Given the description of an element on the screen output the (x, y) to click on. 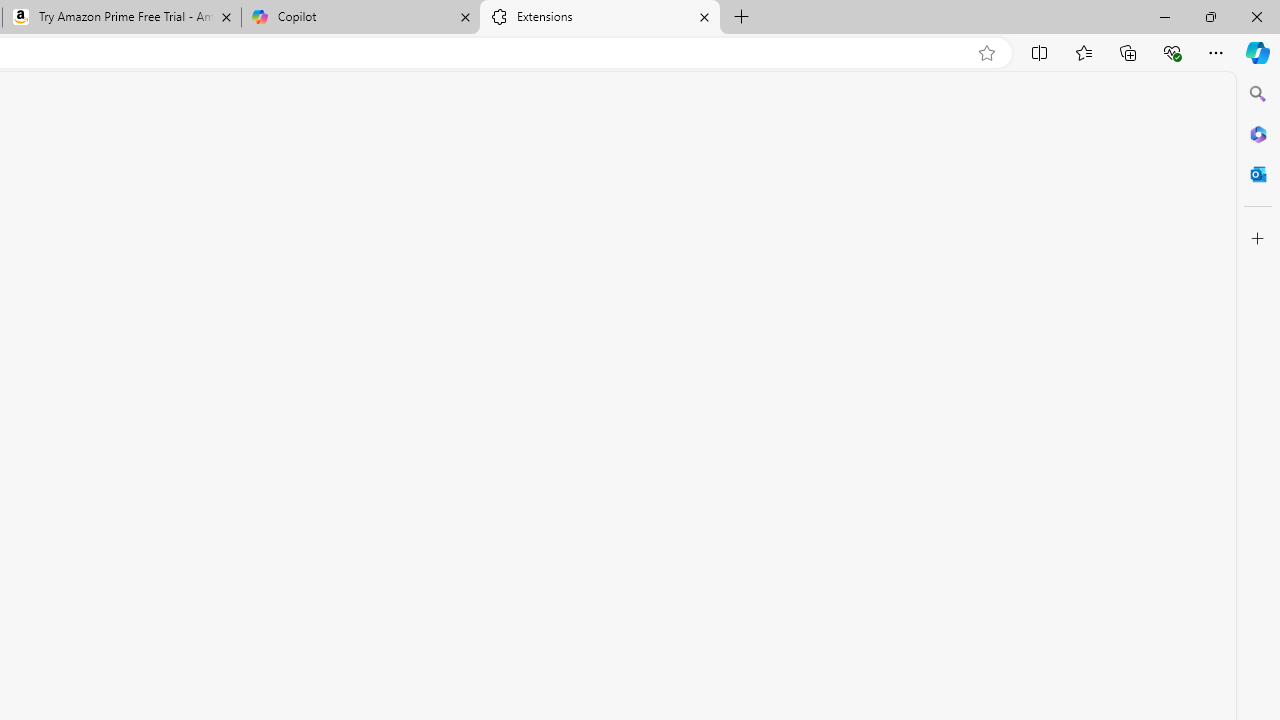
Extensions (600, 17)
